Given the description of an element on the screen output the (x, y) to click on. 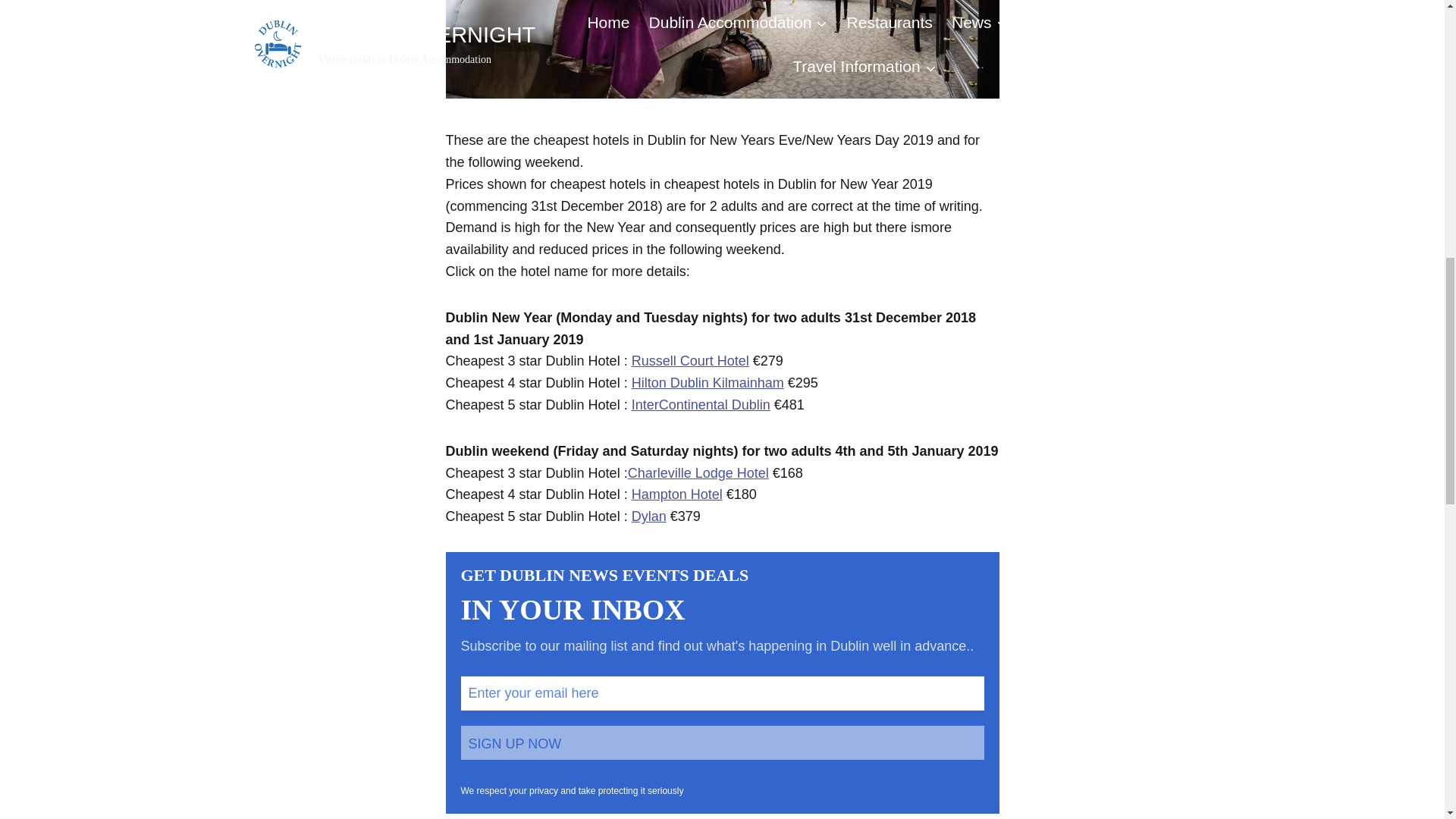
InterContinental Dublin (700, 404)
Sign Up Now (722, 742)
Hampton Hotel (676, 494)
Russell Court Hotel (690, 360)
Dylan (648, 516)
Hilton Dublin Kilmainham (707, 382)
Charleville Lodge Hotel (697, 473)
Sign Up Now (722, 742)
